Given the description of an element on the screen output the (x, y) to click on. 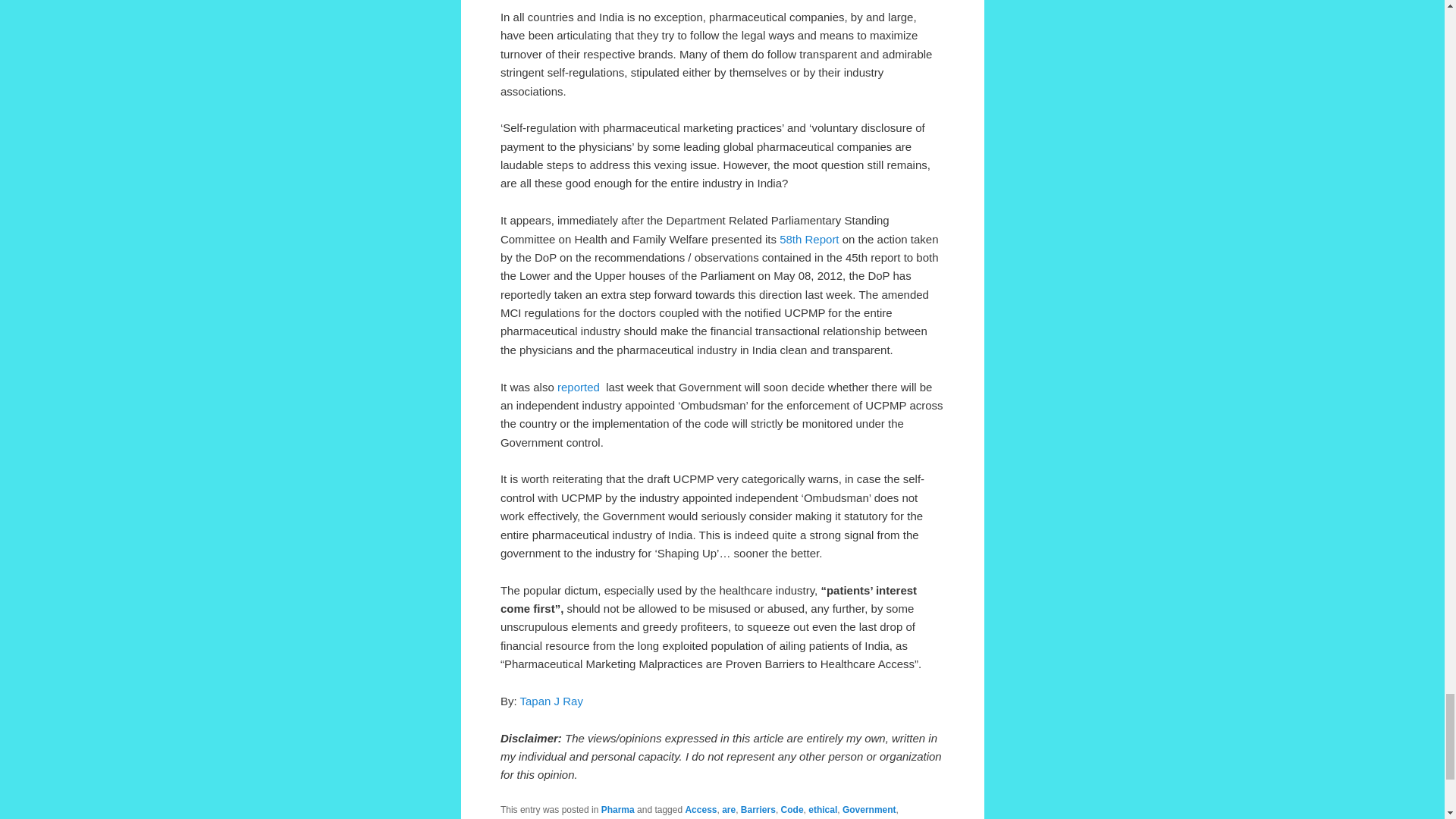
Healthcare (523, 818)
Government (869, 809)
Code (791, 809)
View all posts in Pharma (617, 809)
Tapan J Ray (551, 700)
Barriers (758, 809)
Pharma (617, 809)
are (728, 809)
